Given the description of an element on the screen output the (x, y) to click on. 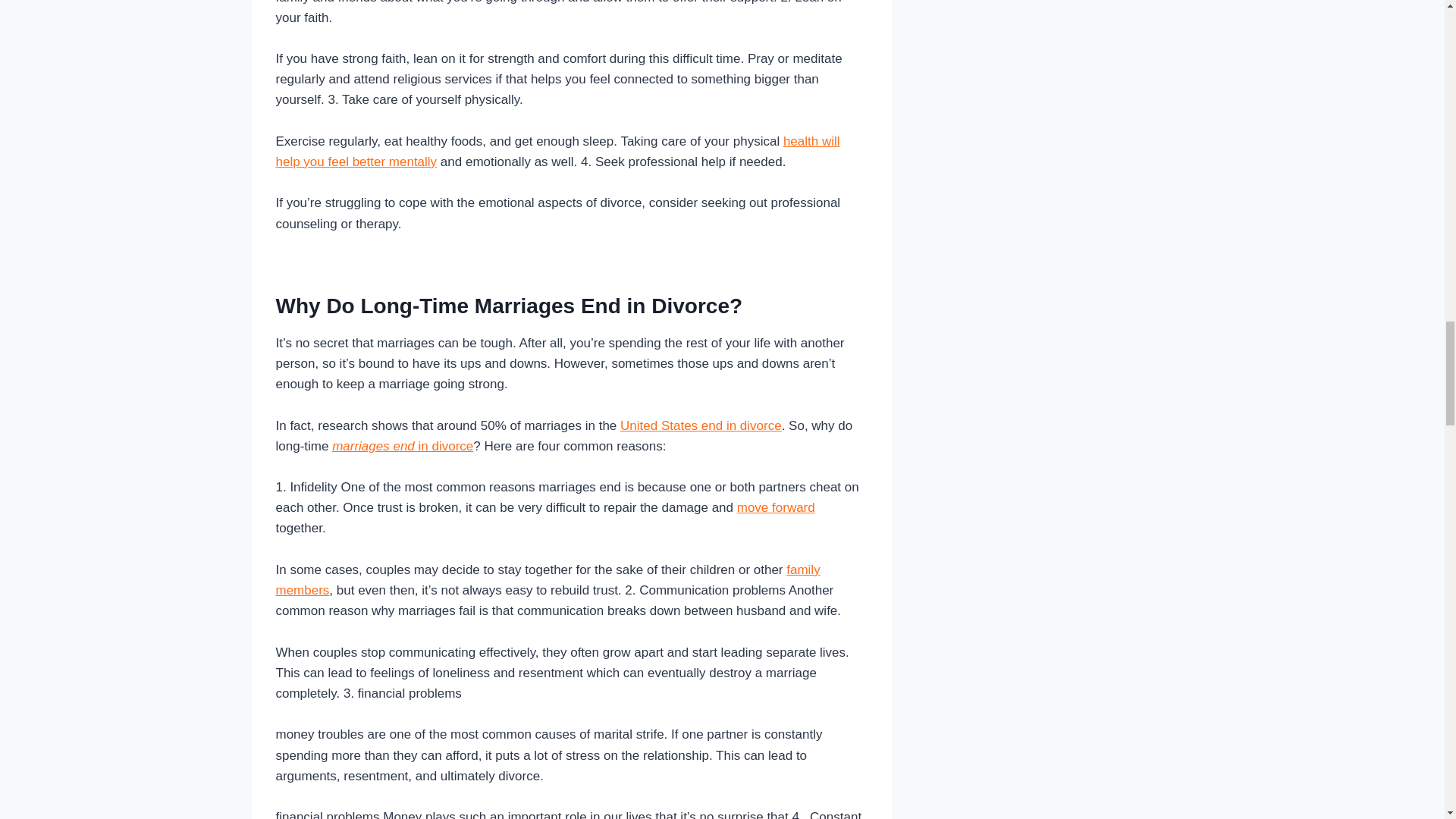
move forward (775, 507)
family members (548, 579)
health will help you feel better mentally (558, 151)
United States end in divorce (700, 425)
marriages end in divorce (402, 445)
